Given the description of an element on the screen output the (x, y) to click on. 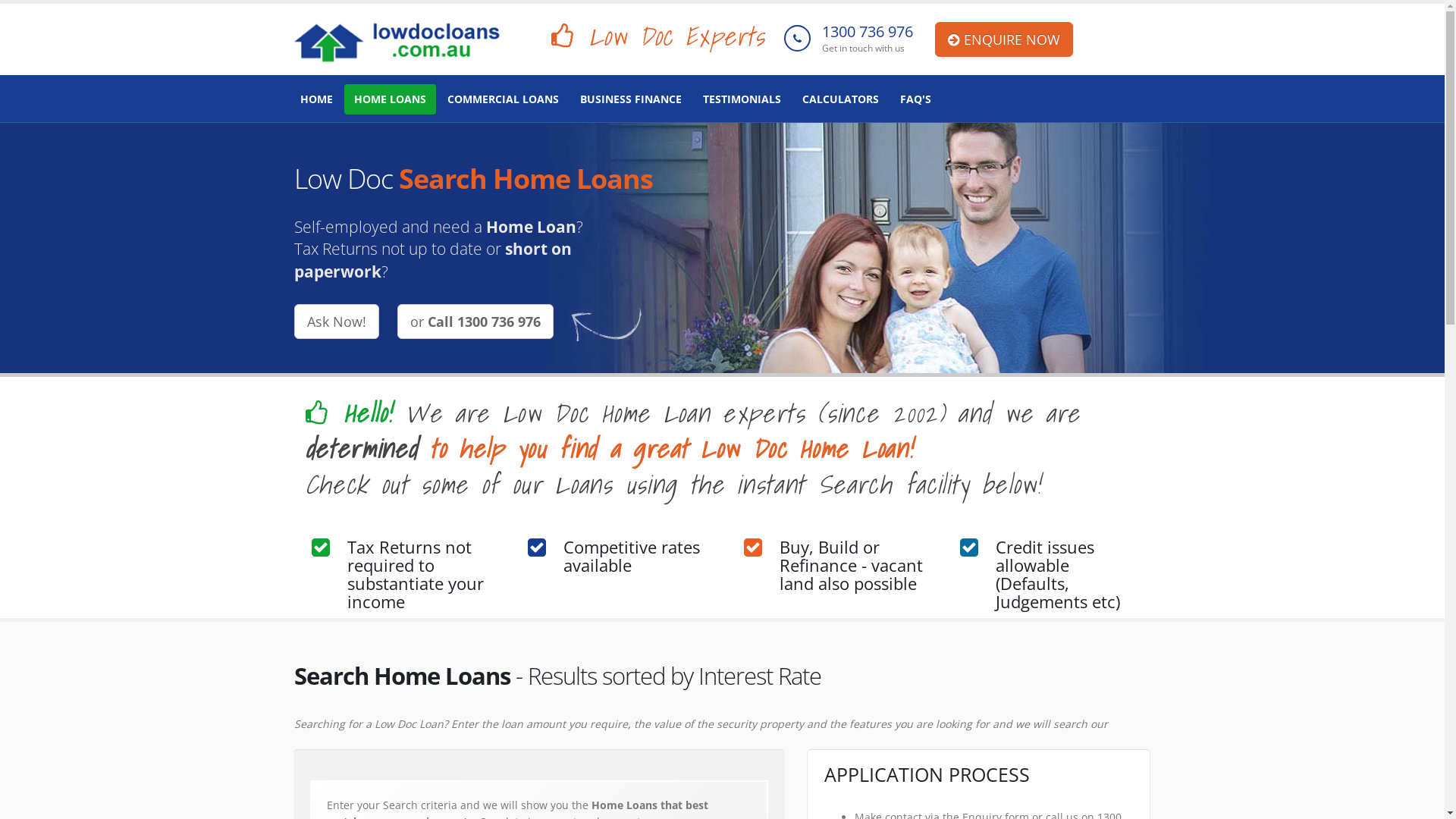
HOME Element type: text (315, 99)
COMMERCIAL LOANS Element type: text (501, 99)
TESTIMONIALS Element type: text (741, 99)
CALCULATORS Element type: text (839, 99)
FAQ'S Element type: text (915, 99)
HOME LOANS Element type: text (390, 99)
Ask Now! Element type: text (336, 321)
ENQUIRE NOW Element type: text (1004, 38)
1300 736 976 Element type: text (867, 31)
or Call 1300 736 976 Element type: text (475, 321)
BUSINESS FINANCE Element type: text (630, 99)
